Given the description of an element on the screen output the (x, y) to click on. 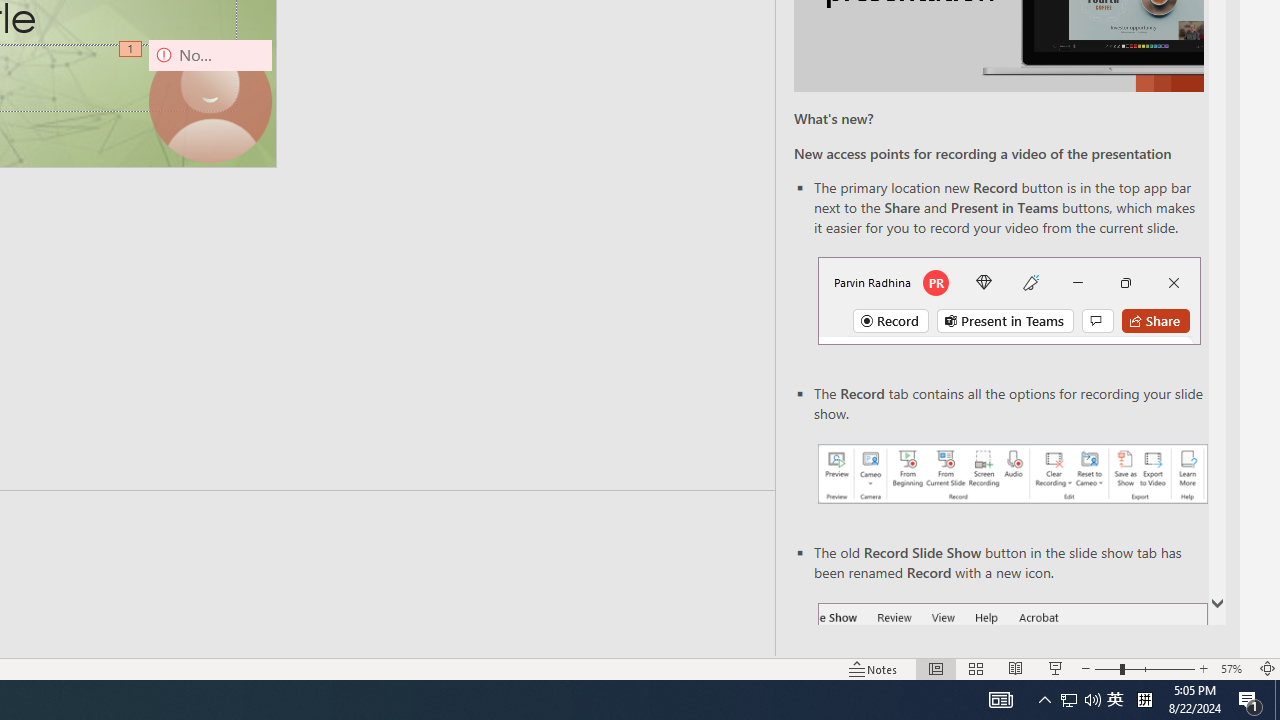
Record your presentations screenshot one (1012, 473)
Record button in top bar (1008, 300)
Zoom 57% (1234, 668)
Animation, sequence 1, on Camera 9 (131, 50)
